Given the description of an element on the screen output the (x, y) to click on. 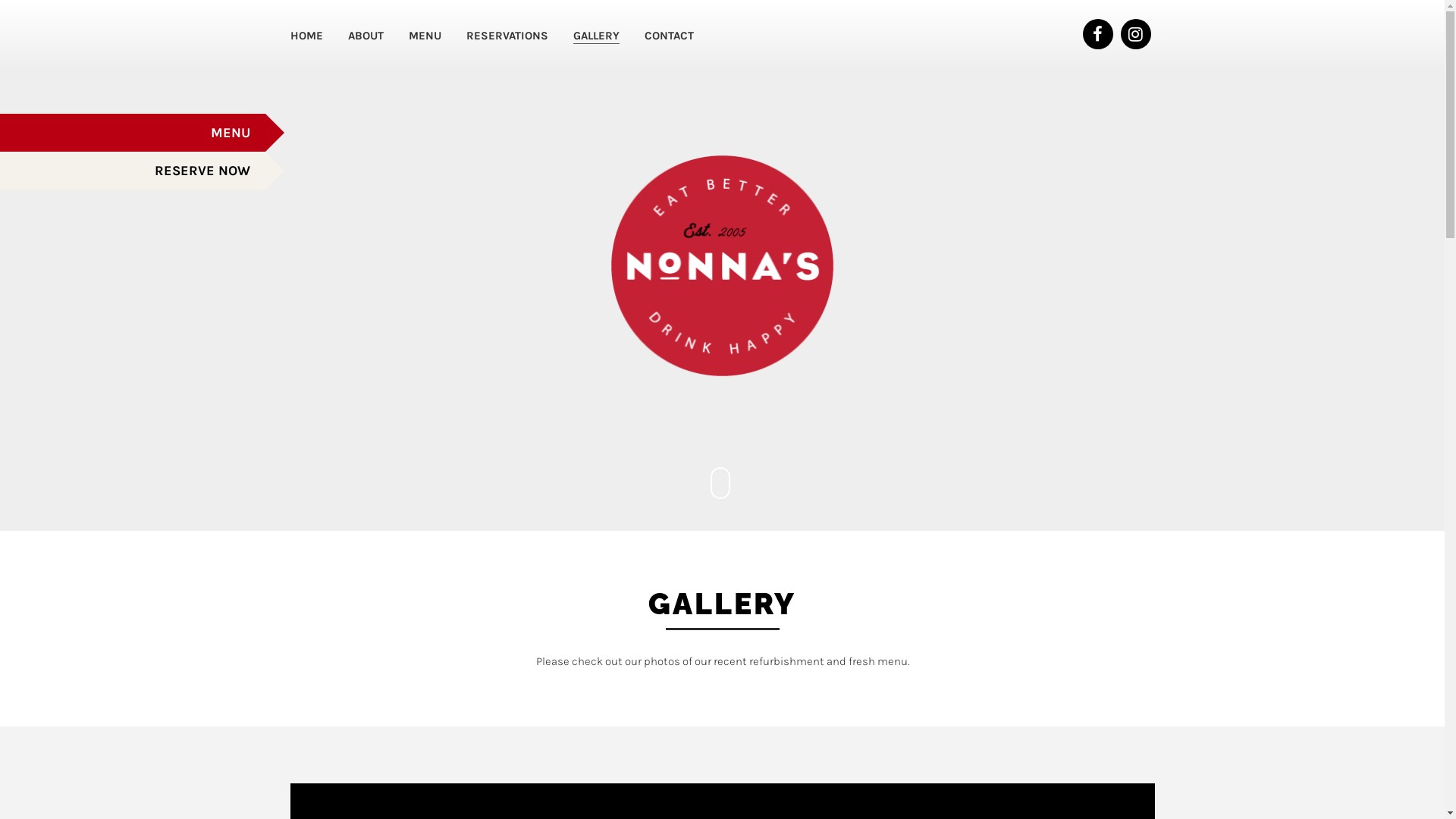
Instagram Element type: hover (1135, 33)
HOME Element type: text (305, 35)
CONTACT Element type: text (668, 35)
MENU Element type: text (132, 132)
RESERVE NOW Element type: text (132, 170)
RESERVATIONS Element type: text (506, 35)
ABOUT Element type: text (364, 35)
Facebook Element type: hover (1097, 33)
GALLERY Element type: text (596, 35)
MENU Element type: text (423, 35)
